Given the description of an element on the screen output the (x, y) to click on. 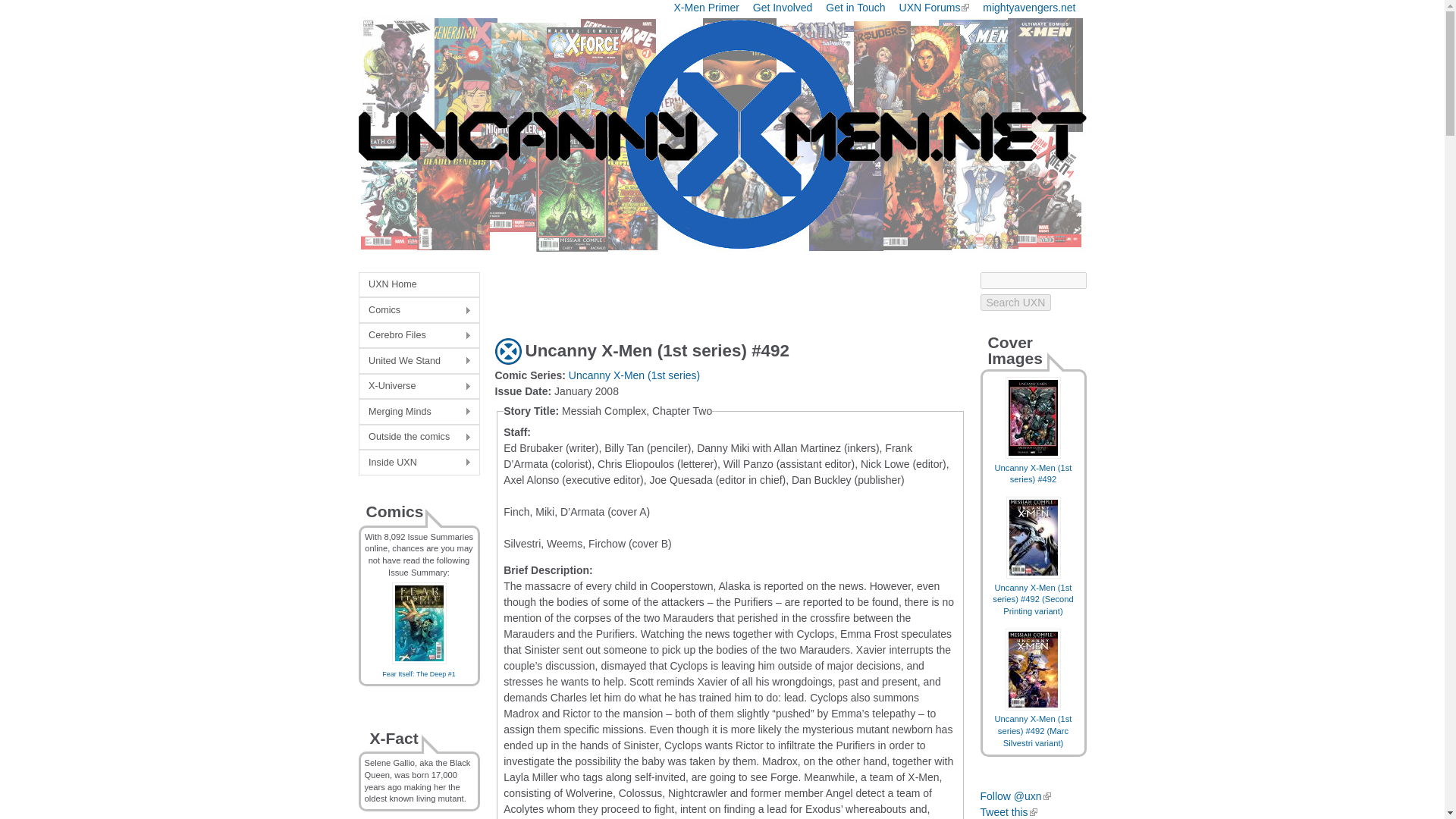
UXN Home (418, 284)
mightyavengers.net (1028, 7)
Get Involved (782, 7)
Search UXN (1015, 302)
Get in Touch (855, 7)
section for articles that don't belong anywhere else (418, 411)
X-Men Primer (706, 7)
Advertisement (671, 294)
Sections devoted to X-Men characters outside the comic books (418, 437)
Check out our Sister site, MightyAvengers.Net! (1028, 7)
